Given the description of an element on the screen output the (x, y) to click on. 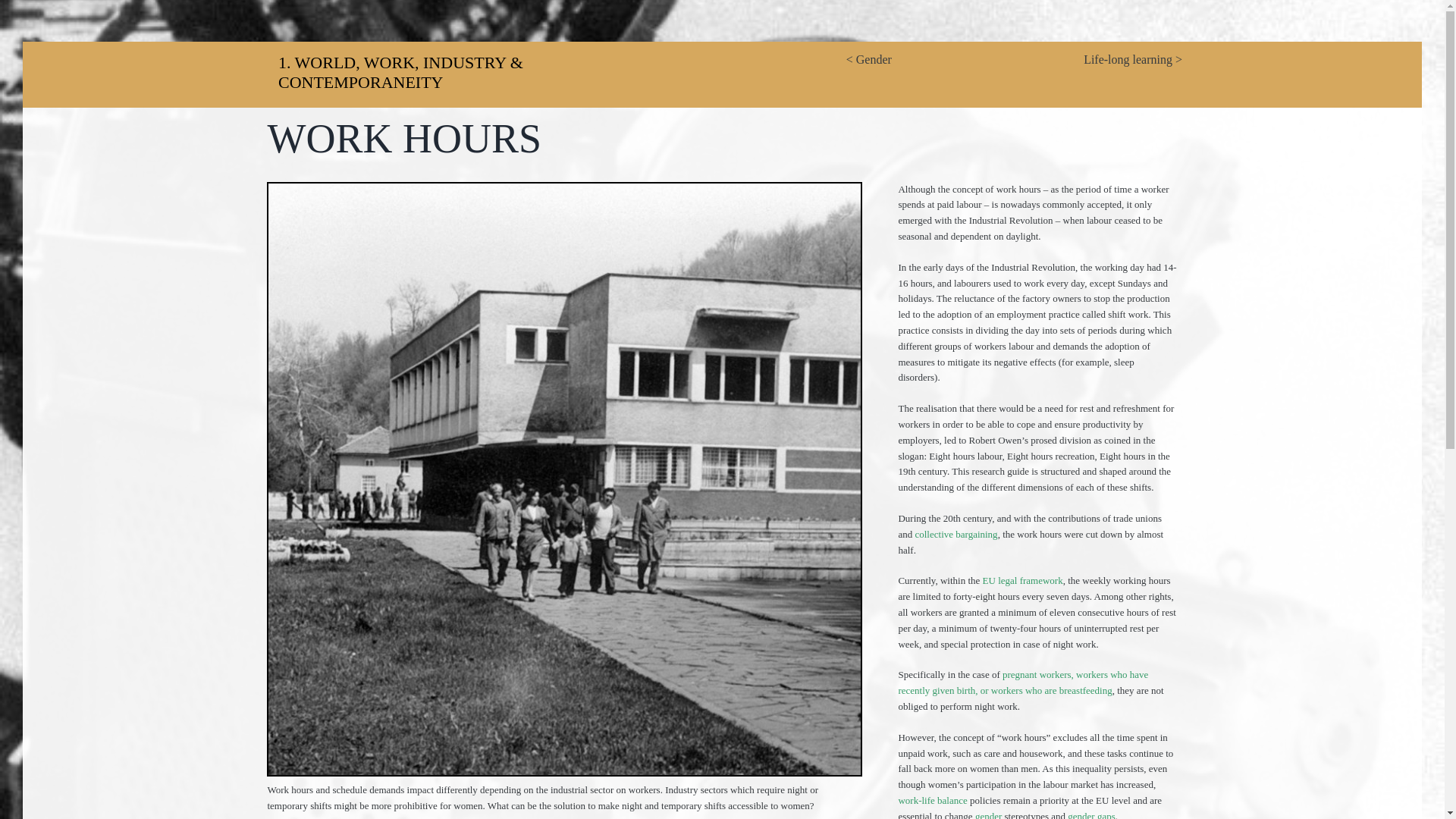
work-life balance (932, 799)
EU legal framework (1022, 580)
collective bargaining (955, 533)
gender (988, 814)
WORK HOURS (722, 129)
gender gaps (1091, 814)
